Given the description of an element on the screen output the (x, y) to click on. 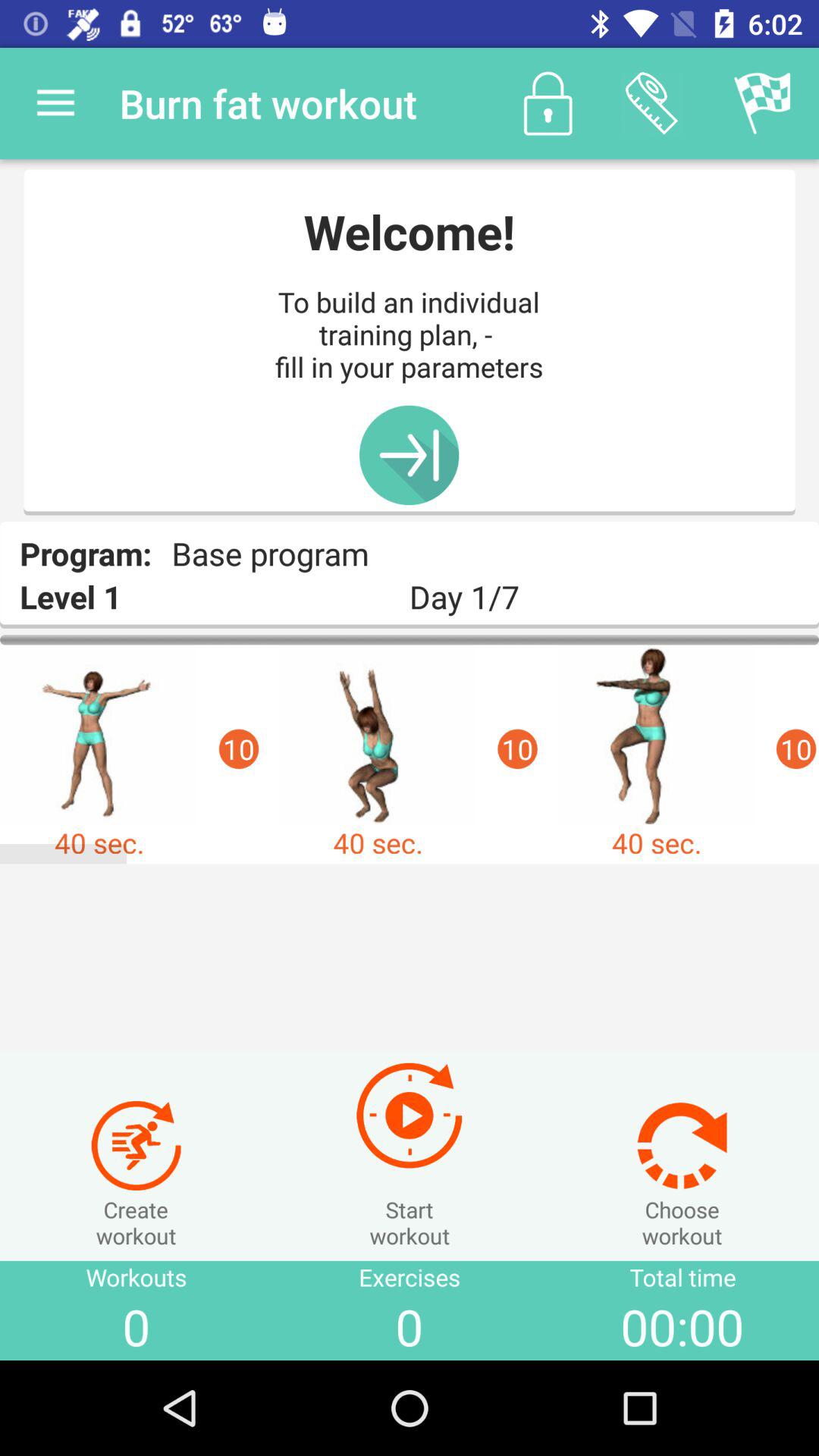
choose the icon above welcome! item (547, 103)
